Given the description of an element on the screen output the (x, y) to click on. 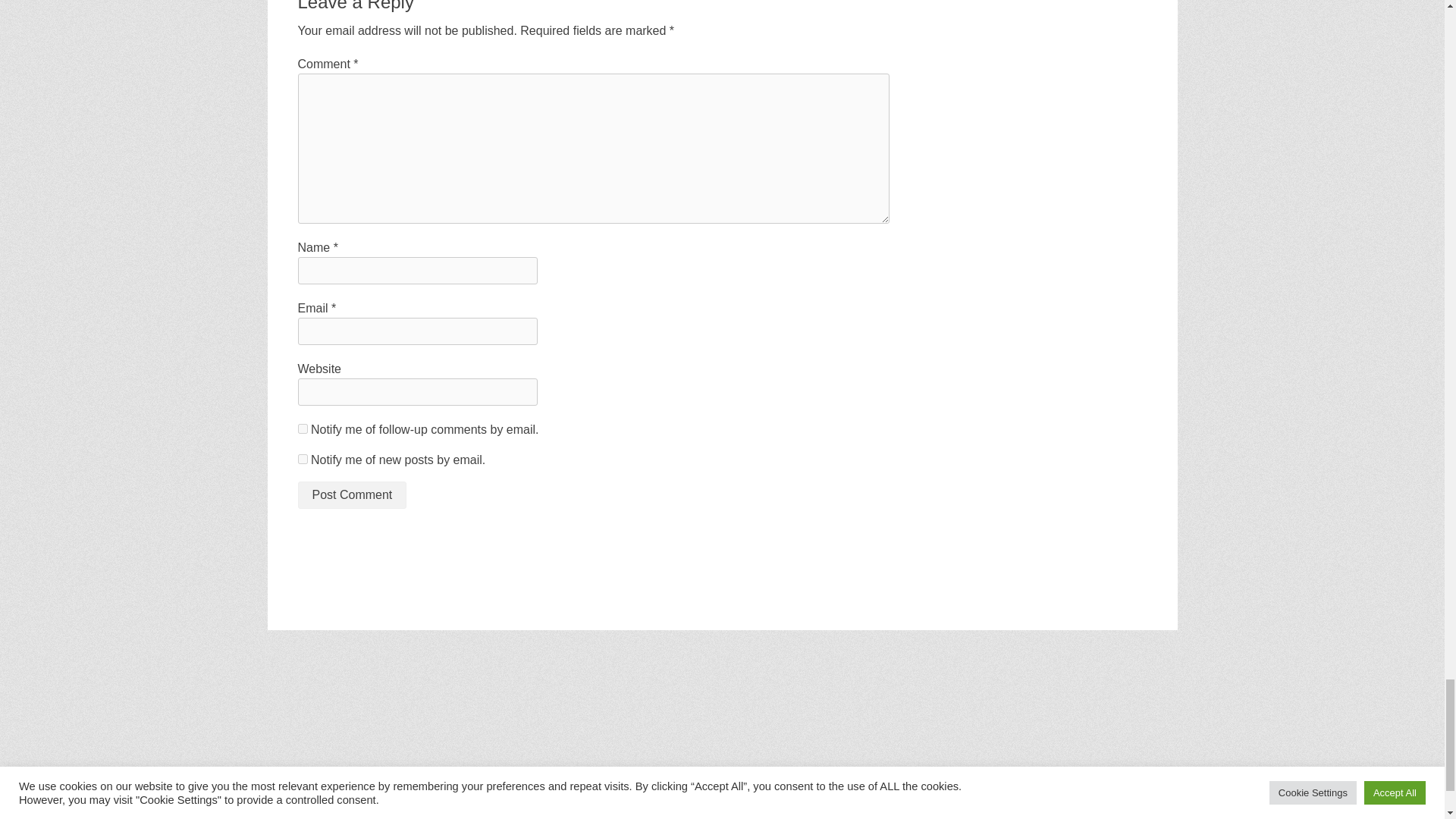
Post Comment (351, 494)
subscribe (302, 459)
subscribe (302, 429)
